Given the description of an element on the screen output the (x, y) to click on. 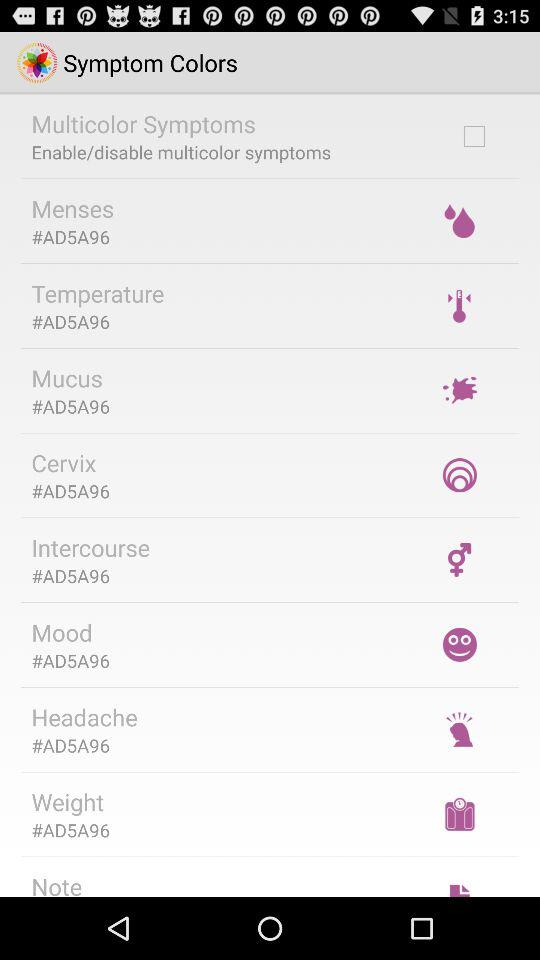
flip to menses icon (72, 208)
